Given the description of an element on the screen output the (x, y) to click on. 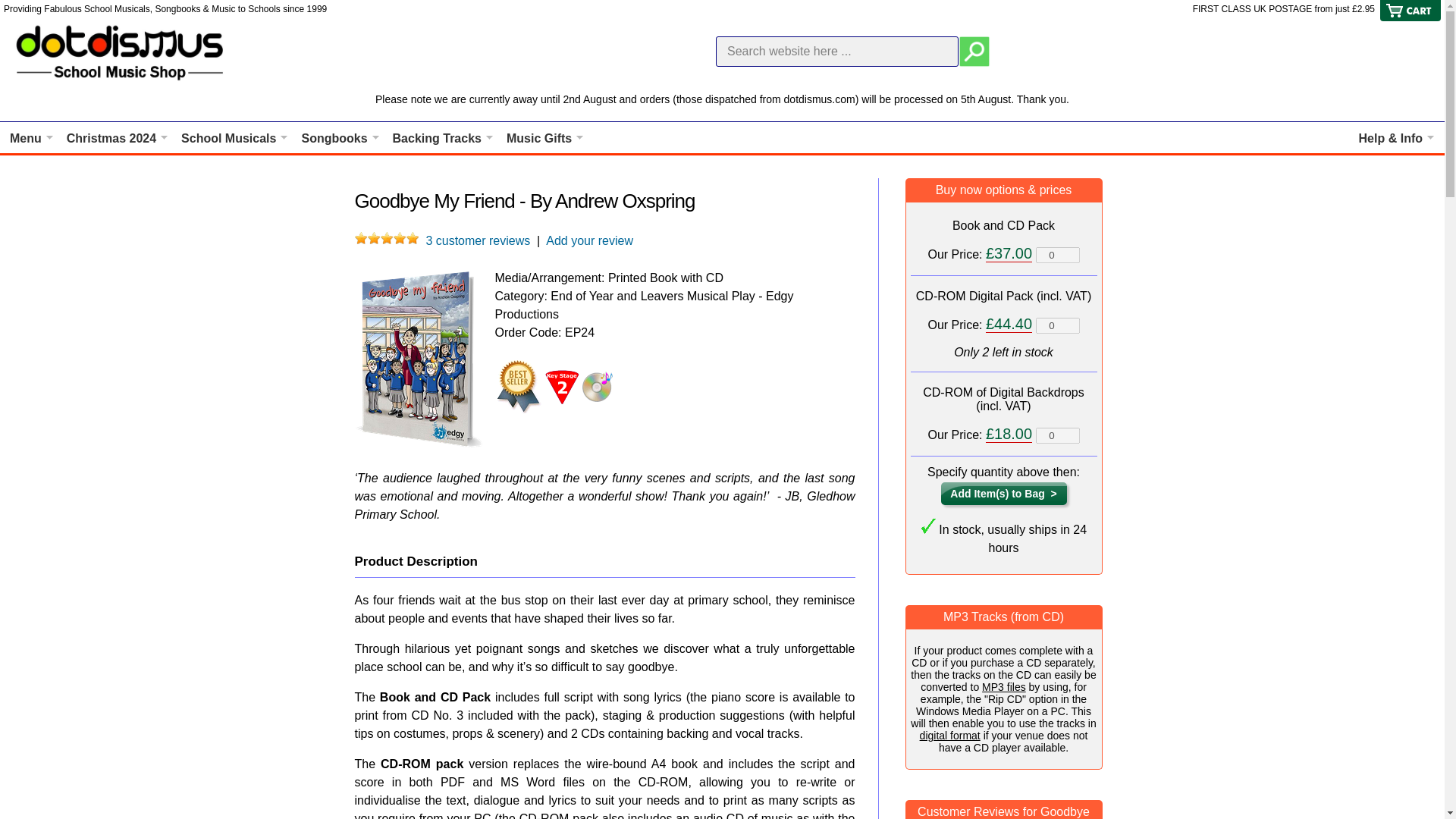
Search website here ... (837, 51)
Backing Tracks (442, 138)
Christmas 2024 (117, 138)
Songbooks (340, 138)
0 (1057, 435)
Menu (31, 138)
Click logo to return to Home Page (120, 51)
0 (1057, 254)
0 (1057, 325)
Search website here ... (837, 51)
School Musicals (234, 138)
View Cart and Checkout (1410, 18)
Music Gifts (545, 138)
